Given the description of an element on the screen output the (x, y) to click on. 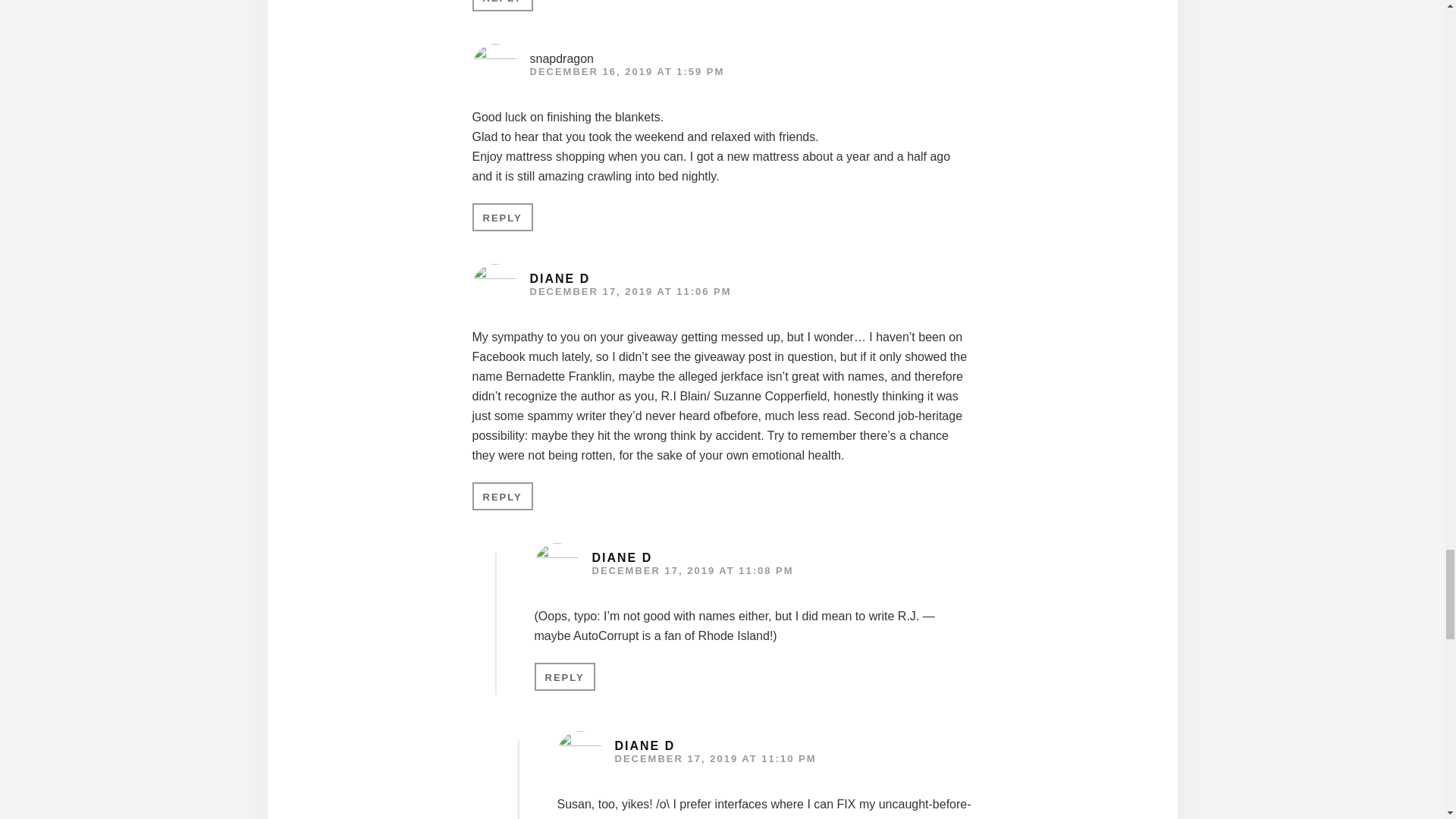
DIANE D (559, 278)
REPLY (501, 5)
REPLY (501, 216)
DECEMBER 17, 2019 AT 11:06 PM (629, 291)
DECEMBER 16, 2019 AT 1:59 PM (626, 71)
